Given the description of an element on the screen output the (x, y) to click on. 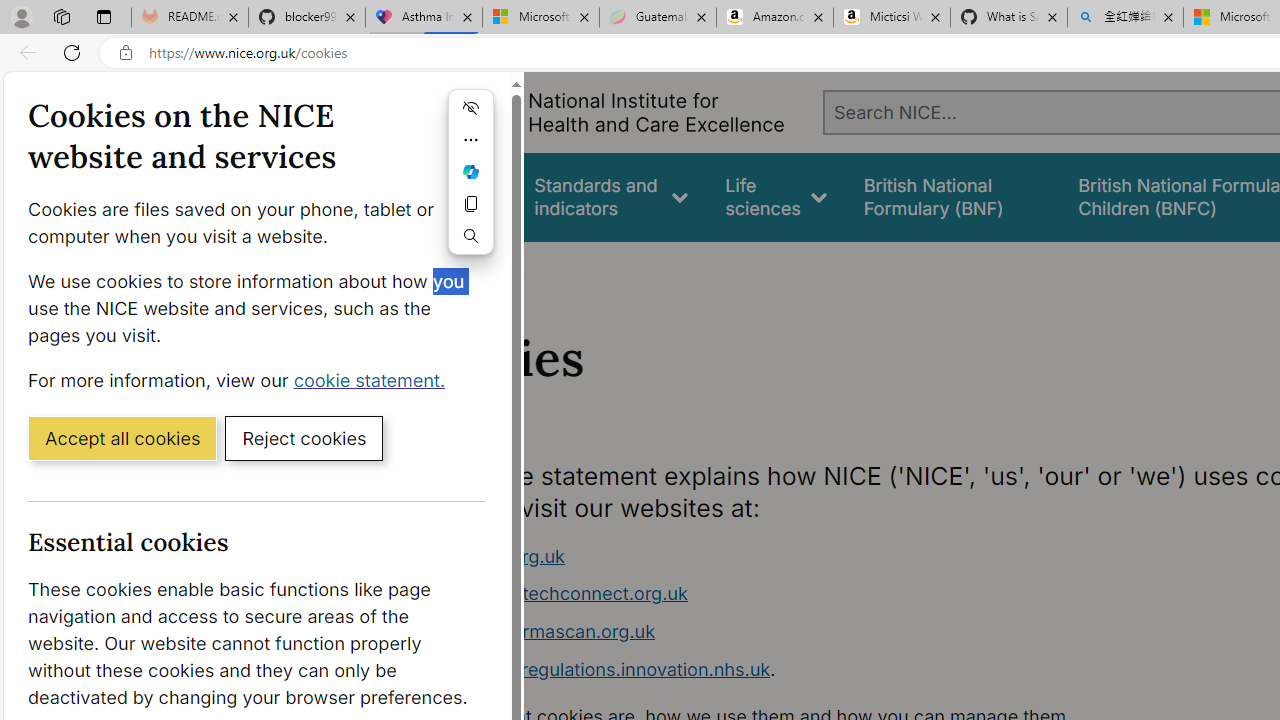
More actions (470, 139)
